Given the description of an element on the screen output the (x, y) to click on. 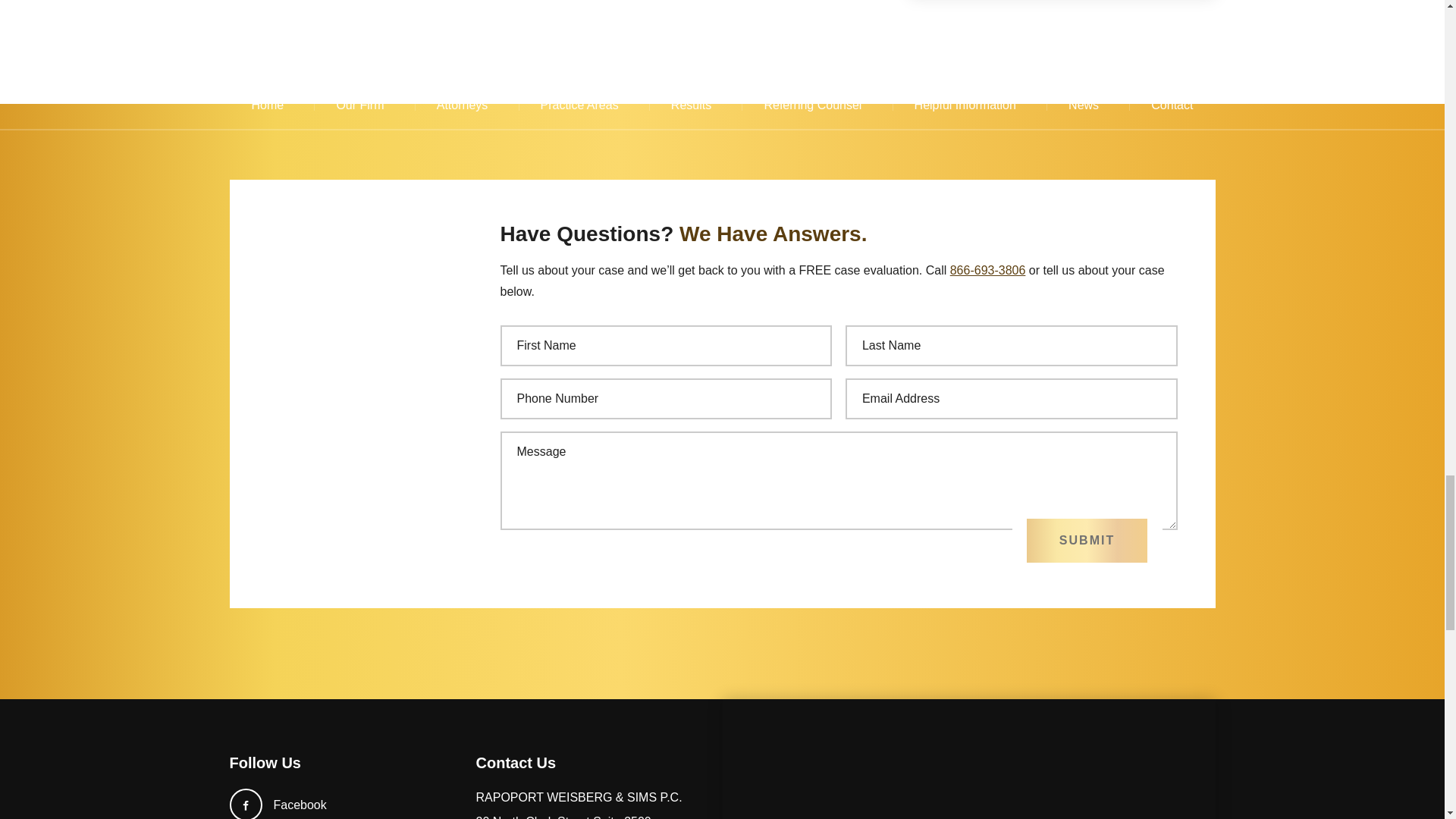
Submit (1086, 540)
